Given the description of an element on the screen output the (x, y) to click on. 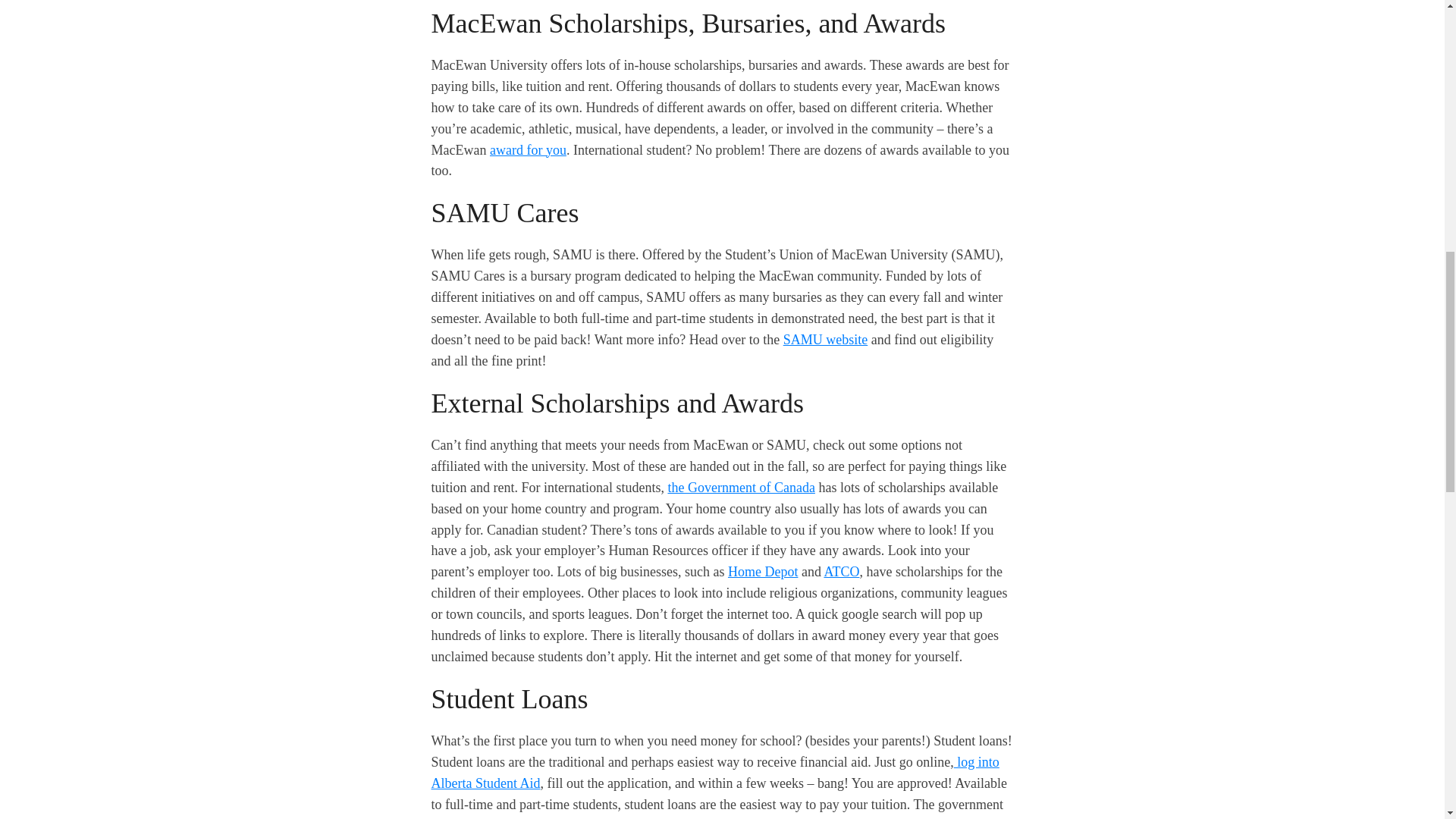
Home Depot (762, 571)
the Government of Canada (739, 487)
award for you (527, 150)
SAMU website (825, 339)
log into Alberta Student Aid (714, 772)
ATCO (841, 571)
